Given the description of an element on the screen output the (x, y) to click on. 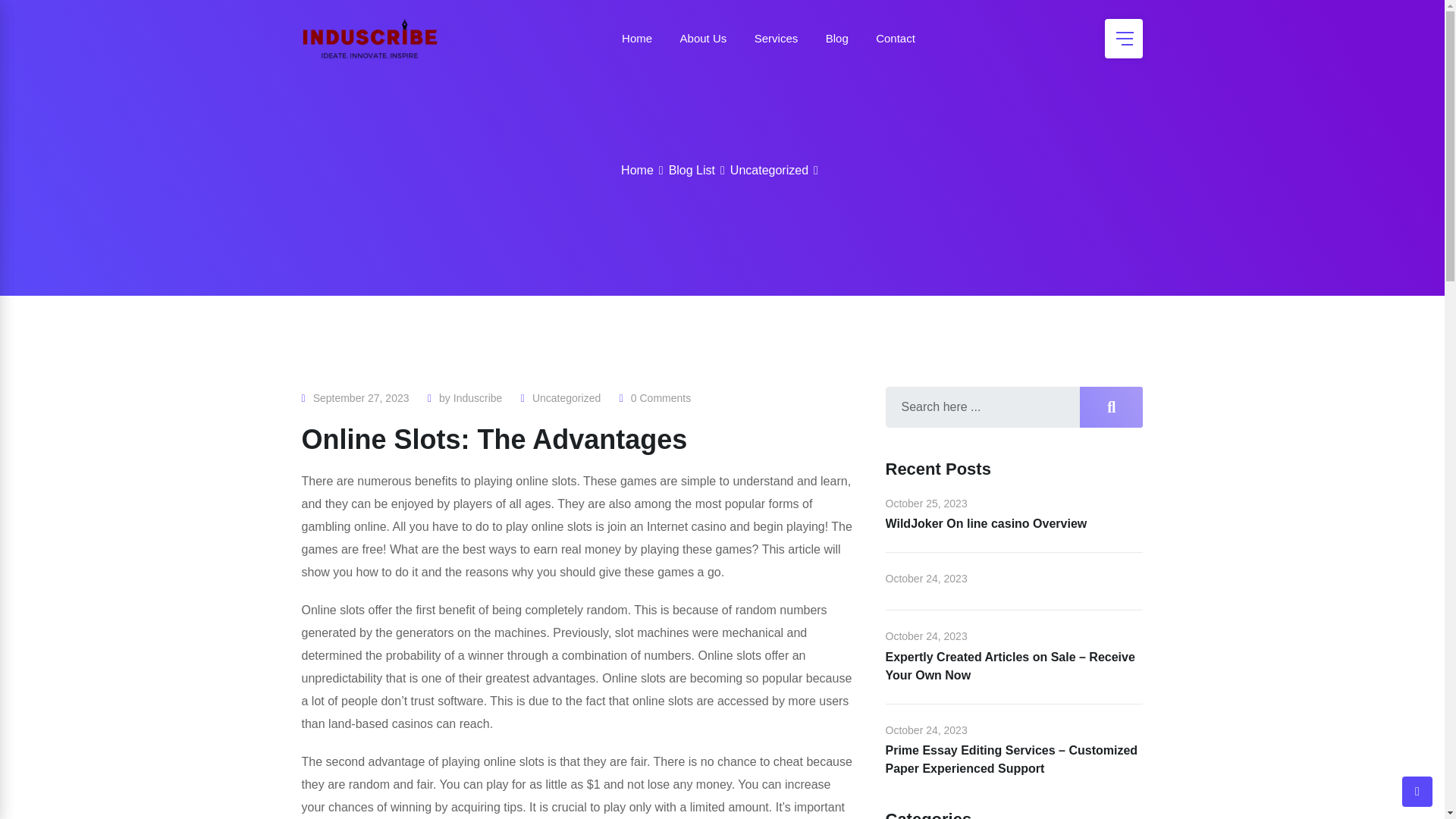
Go to Induscribe. (637, 169)
Posts by Induscribe (477, 398)
Go to Blog List. (691, 169)
Go to the Uncategorized category archives. (769, 169)
About Us (703, 38)
